Given the description of an element on the screen output the (x, y) to click on. 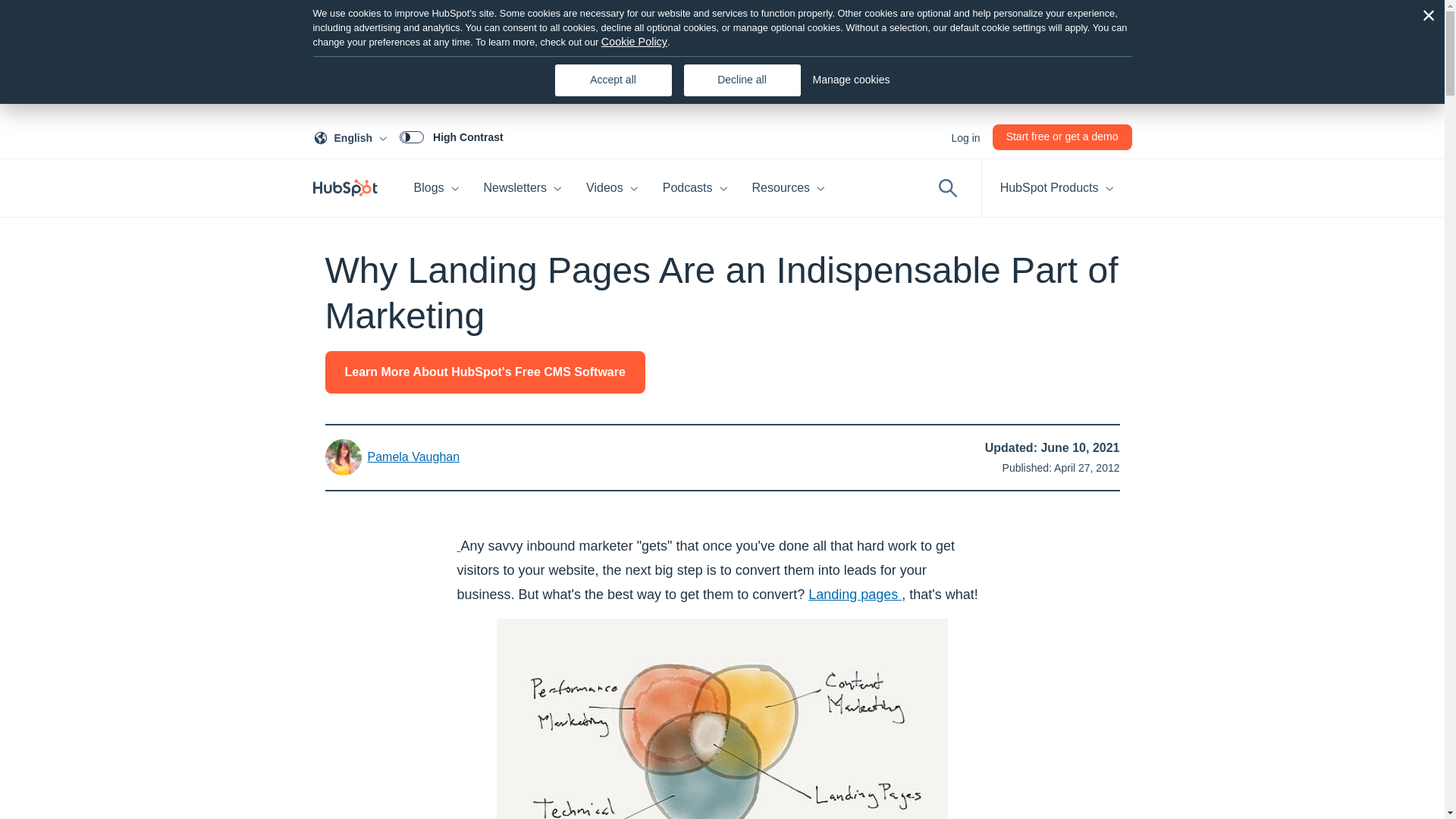
Newsletters (523, 187)
High Contrast (450, 137)
Log in (964, 137)
Start free or get a demo (1062, 136)
Using landing pages (854, 594)
Blogs (353, 136)
